Given the description of an element on the screen output the (x, y) to click on. 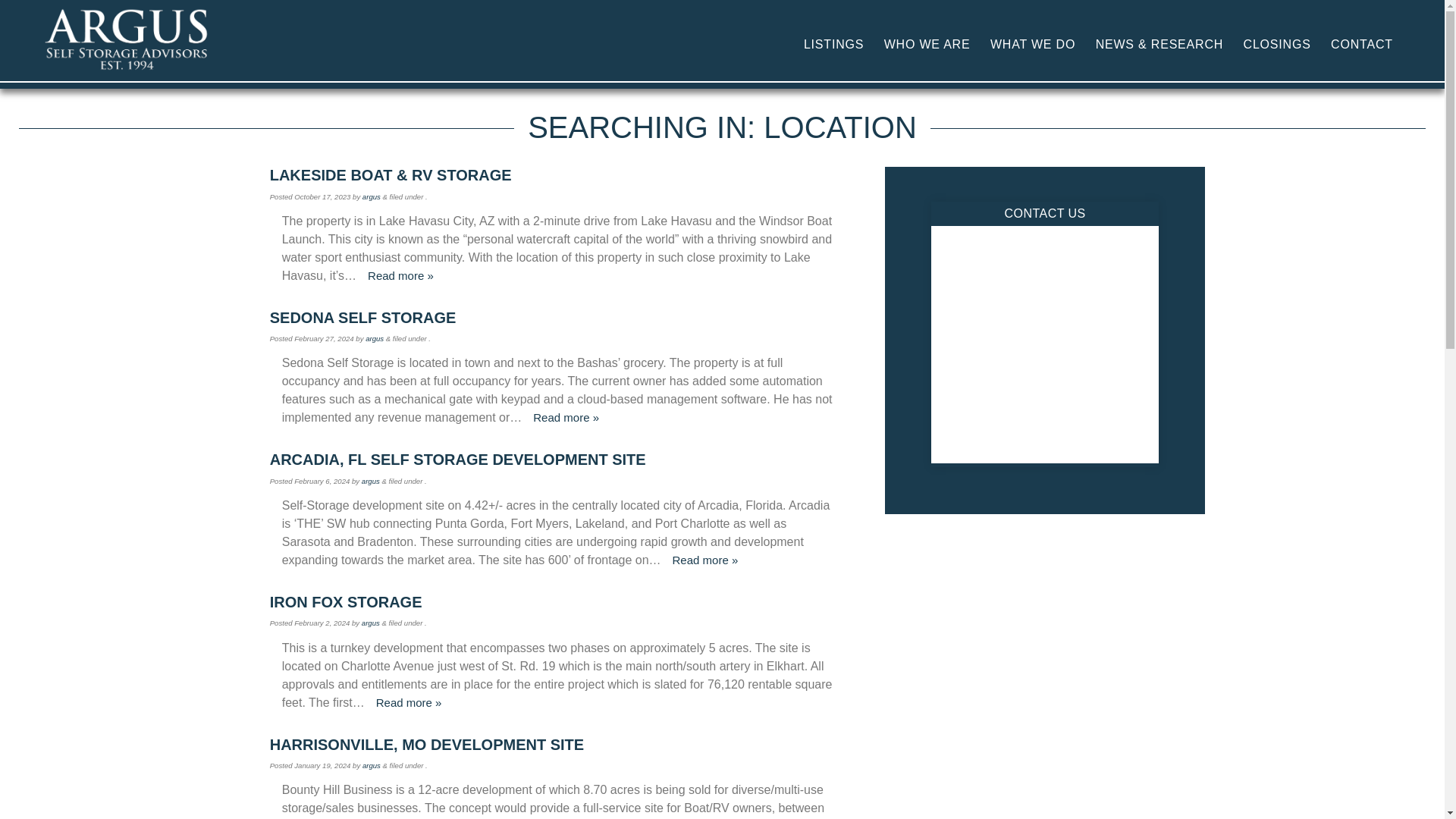
CONTACT (1361, 44)
Iron Fox Storage (559, 601)
argus (374, 338)
LISTINGS (833, 44)
ReadSedona Self Storage (566, 417)
argus (371, 196)
argus (371, 765)
CLOSINGS (1276, 44)
WHO WE ARE (927, 44)
SEDONA SELF STORAGE (559, 317)
Posts by argus (371, 196)
Posts by argus (374, 338)
Arcadia, FL Self Storage Development Site (559, 459)
HARRISONVILLE, MO DEVELOPMENT SITE (559, 744)
IRON FOX STORAGE (559, 601)
